Given the description of an element on the screen output the (x, y) to click on. 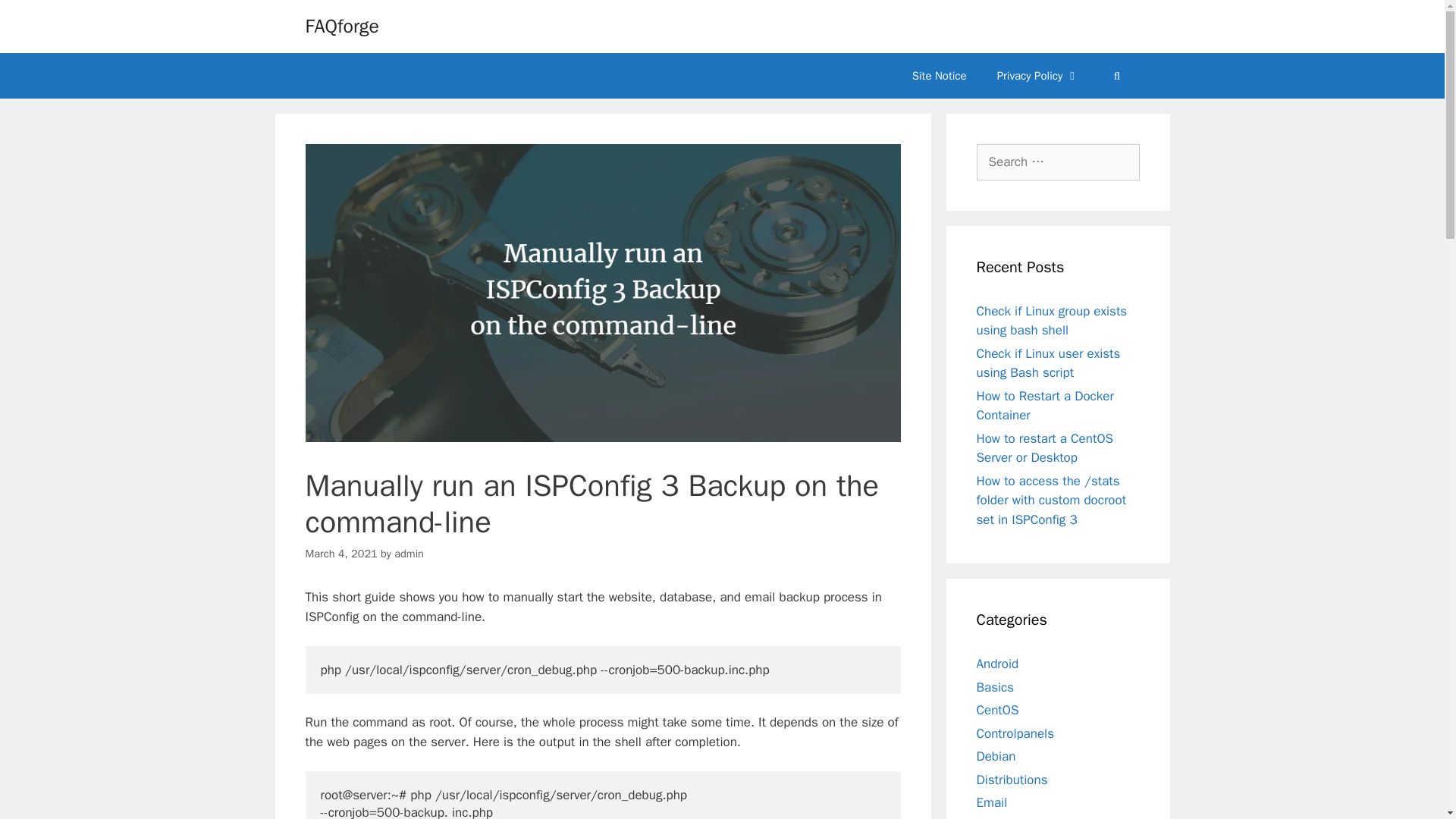
Check if Linux group exists using bash shell (1051, 321)
Check if Linux user exists using Bash script (1048, 363)
Site Notice (938, 75)
Android (997, 663)
Search for: (1058, 162)
Controlpanels (1015, 732)
Email (991, 802)
Distributions (1012, 779)
How to restart a CentOS Server or Desktop (1044, 448)
Search (35, 18)
CentOS (997, 709)
admin (408, 553)
FAQforge (341, 25)
Debian (996, 756)
